Given the description of an element on the screen output the (x, y) to click on. 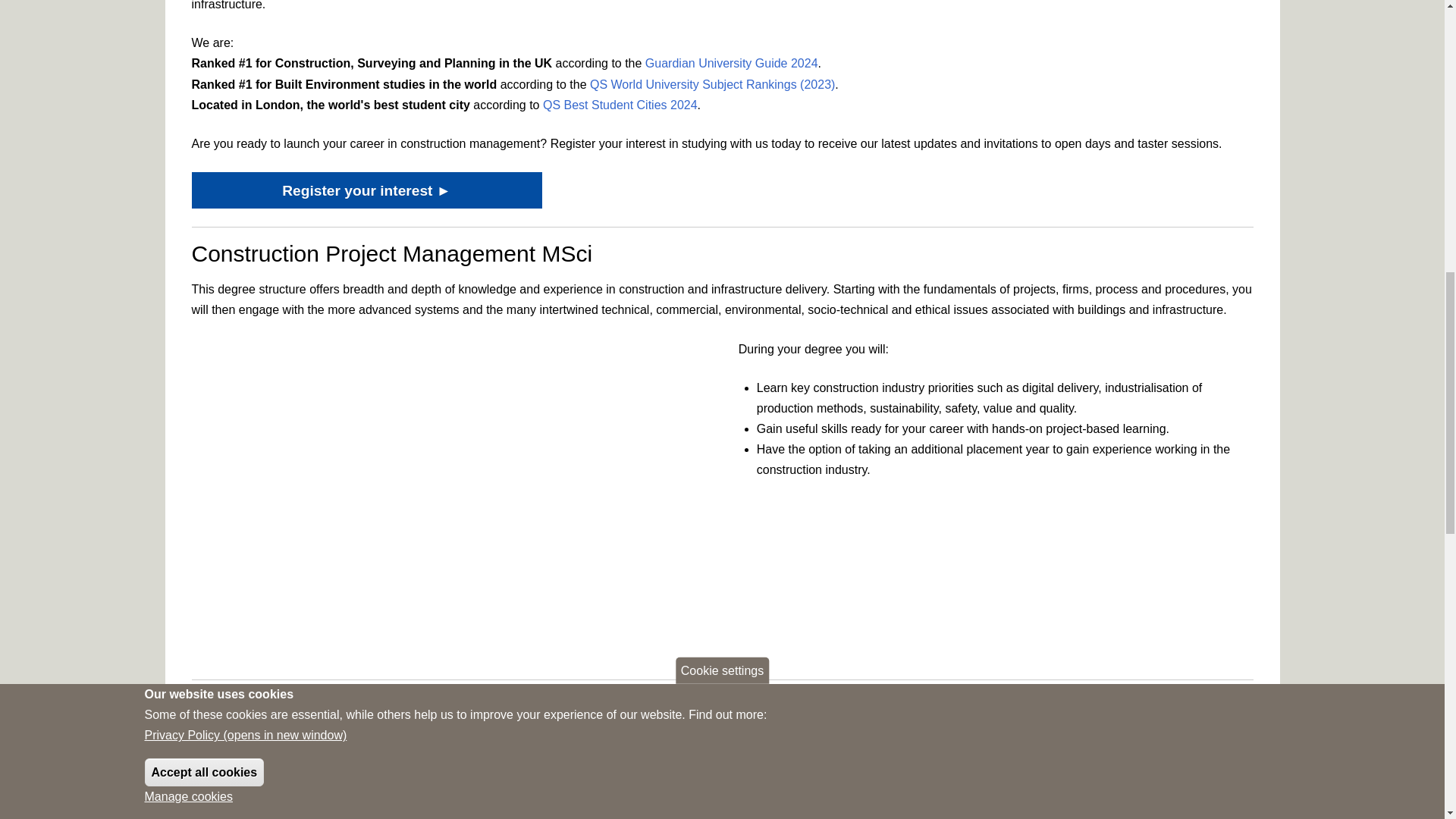
Guardian University Guide 2024 (731, 62)
QS Best Student Cities 2024 (620, 104)
